Given the description of an element on the screen output the (x, y) to click on. 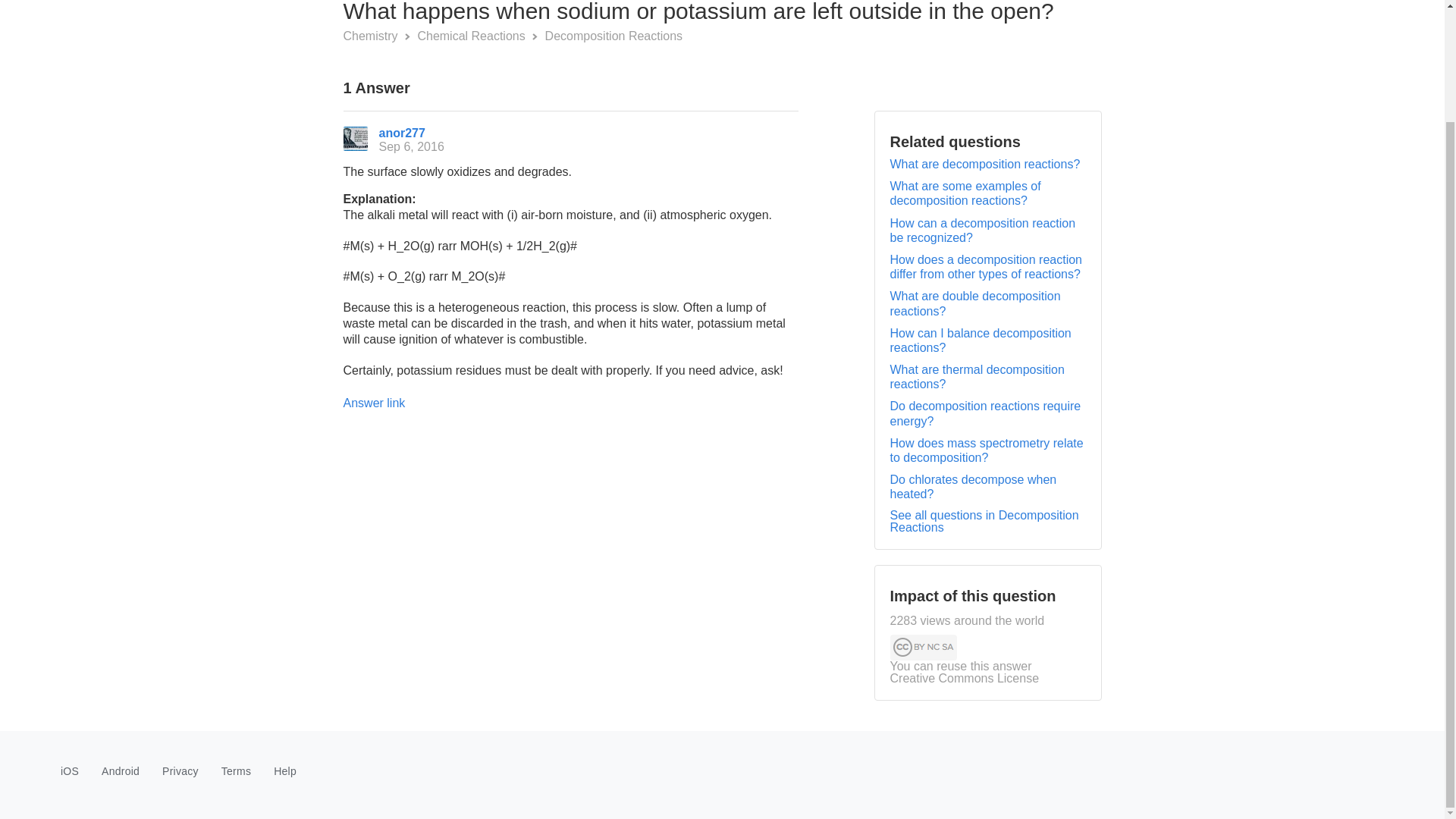
Answer link (373, 402)
What are some examples of decomposition reactions? (965, 193)
How does mass spectrometry relate to decomposition? (986, 450)
What are thermal decomposition reactions? (976, 376)
Do chlorates decompose when heated? (973, 486)
Do decomposition reactions require energy? (985, 412)
Chemical Reactions (472, 35)
How can I balance decomposition reactions? (980, 339)
Decomposition Reactions (613, 35)
